Given the description of an element on the screen output the (x, y) to click on. 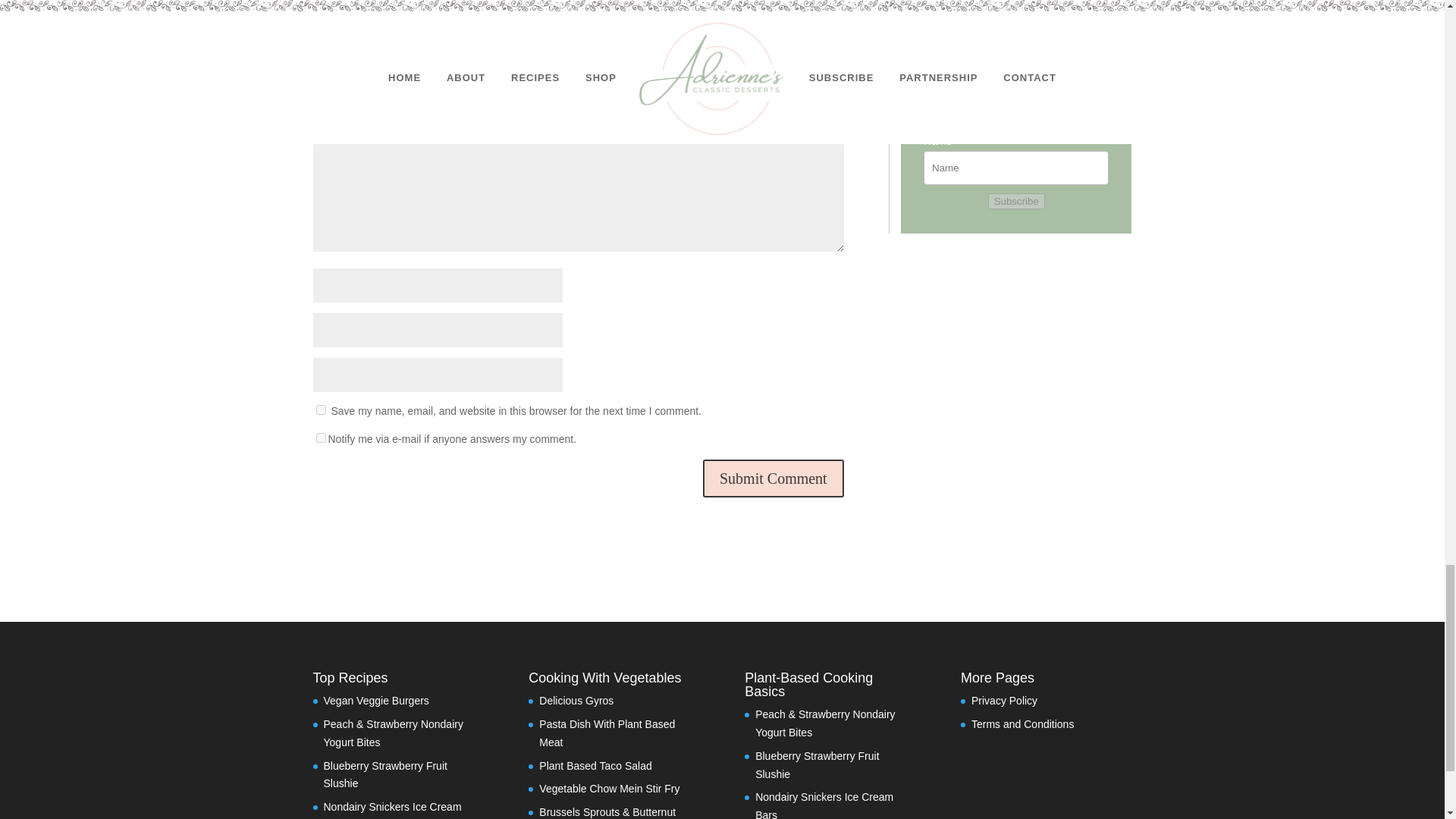
on (319, 438)
yes (319, 409)
